Given the description of an element on the screen output the (x, y) to click on. 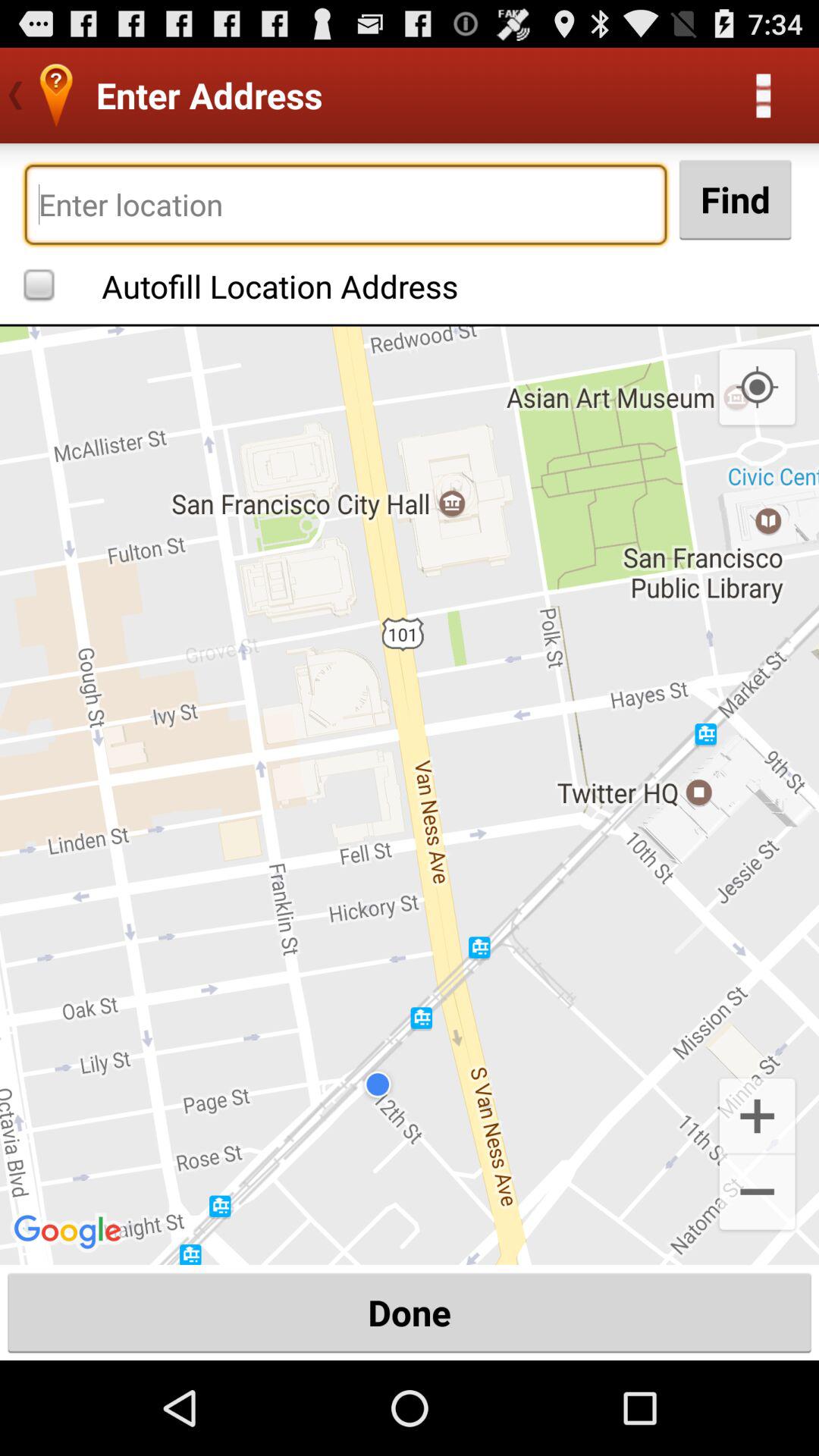
launch done at the bottom (409, 1312)
